Given the description of an element on the screen output the (x, y) to click on. 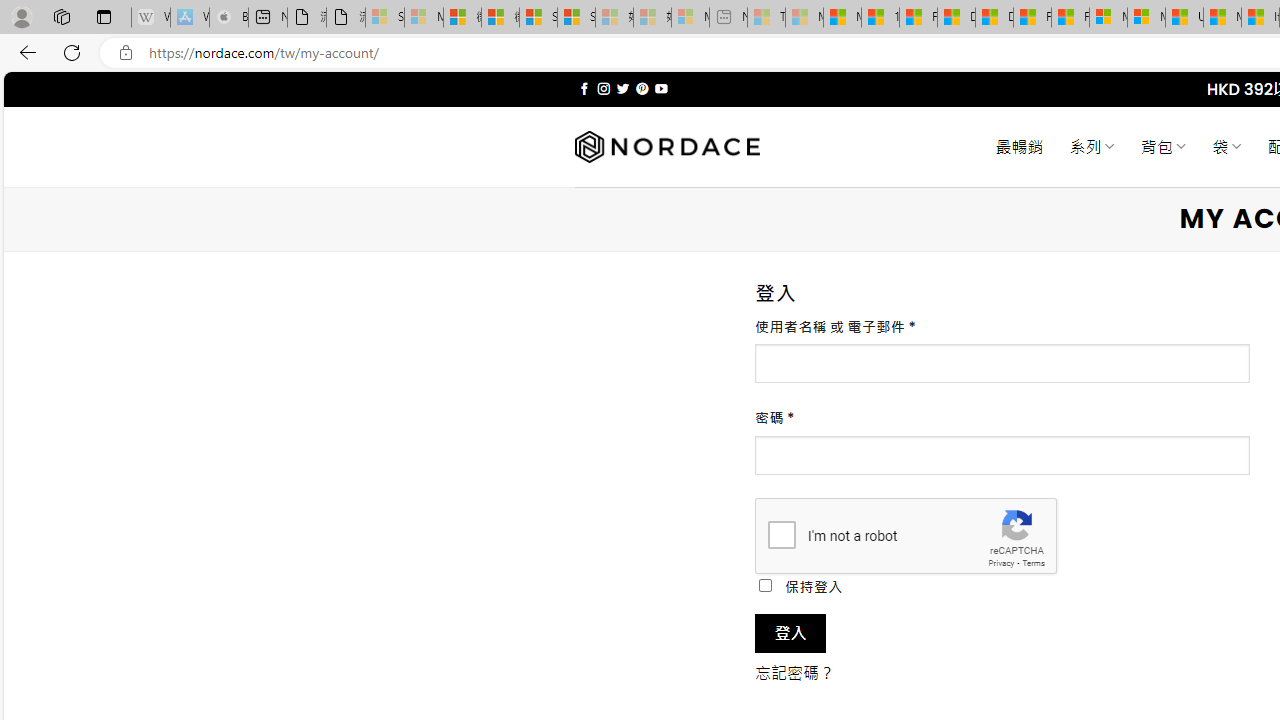
Food and Drink - MSN (917, 17)
Follow on Pinterest (642, 88)
Top Stories - MSN - Sleeping (765, 17)
Follow on Twitter (621, 88)
